Given the description of an element on the screen output the (x, y) to click on. 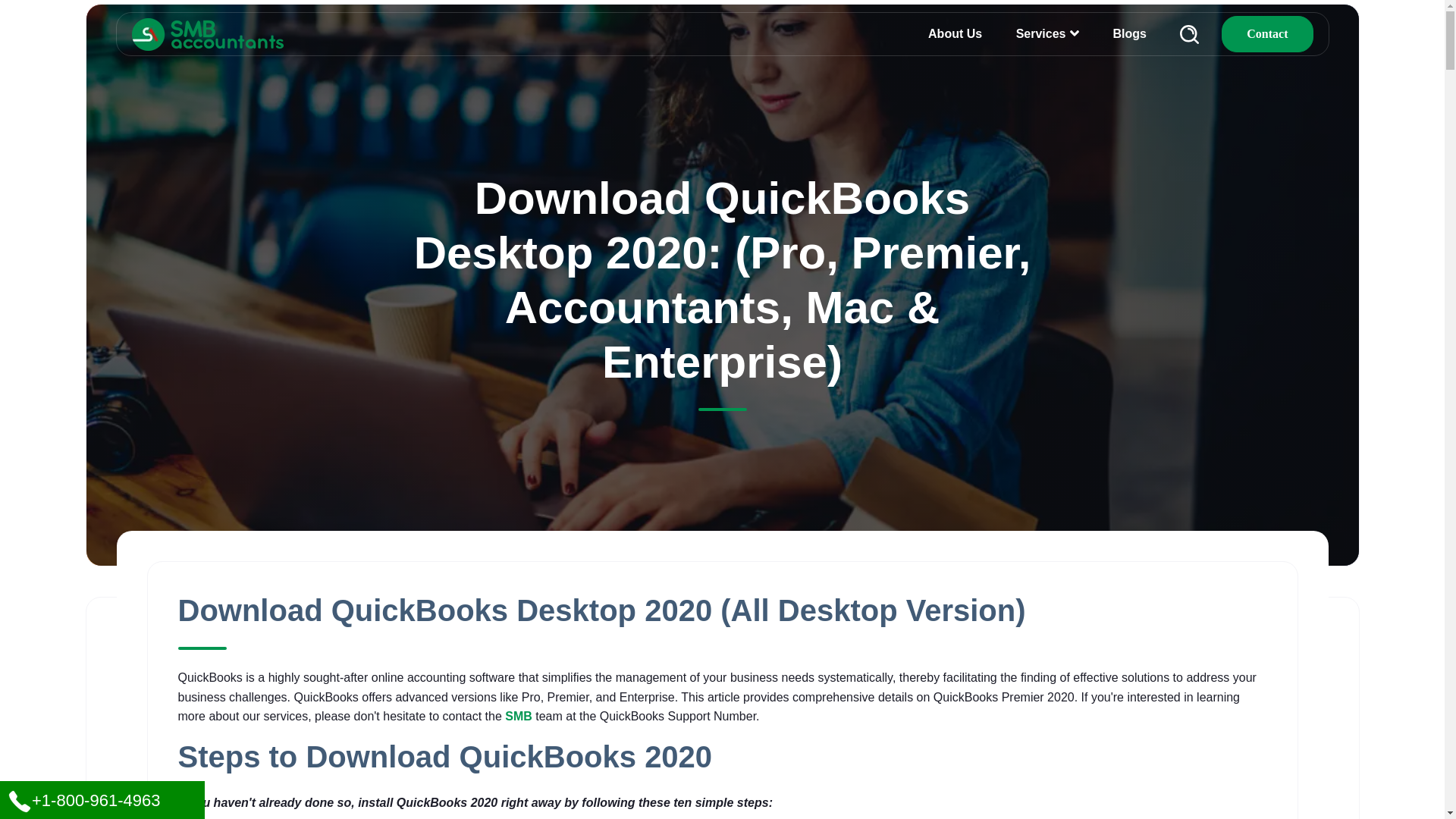
Blogs (1128, 33)
SMB Accountants (207, 34)
Contact (1267, 33)
Services (1040, 33)
About Us (954, 33)
SMB (518, 716)
